Given the description of an element on the screen output the (x, y) to click on. 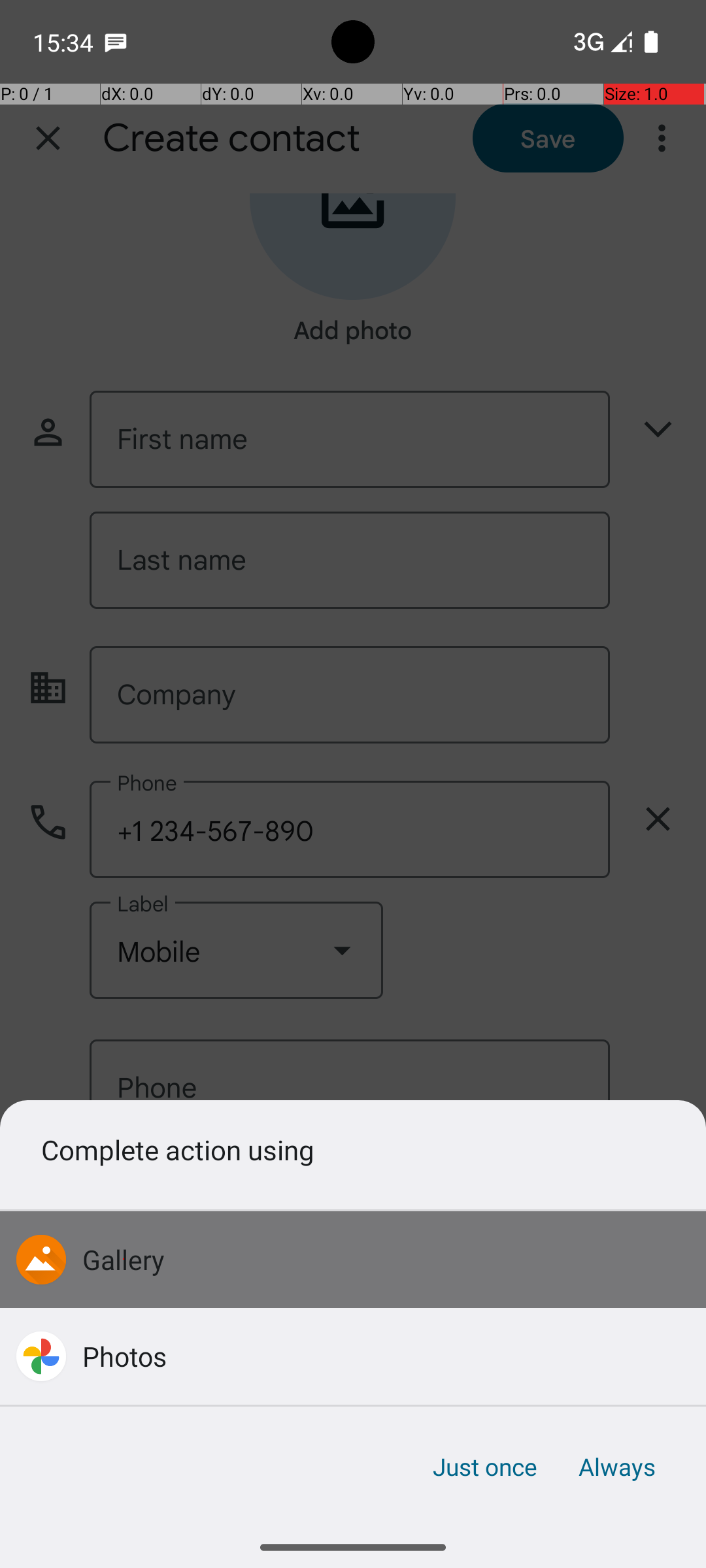
Complete action using Element type: android.widget.TextView (352, 1149)
Just once Element type: android.widget.Button (484, 1466)
Always Element type: android.widget.Button (616, 1466)
Gallery Element type: android.widget.TextView (123, 1258)
